Given the description of an element on the screen output the (x, y) to click on. 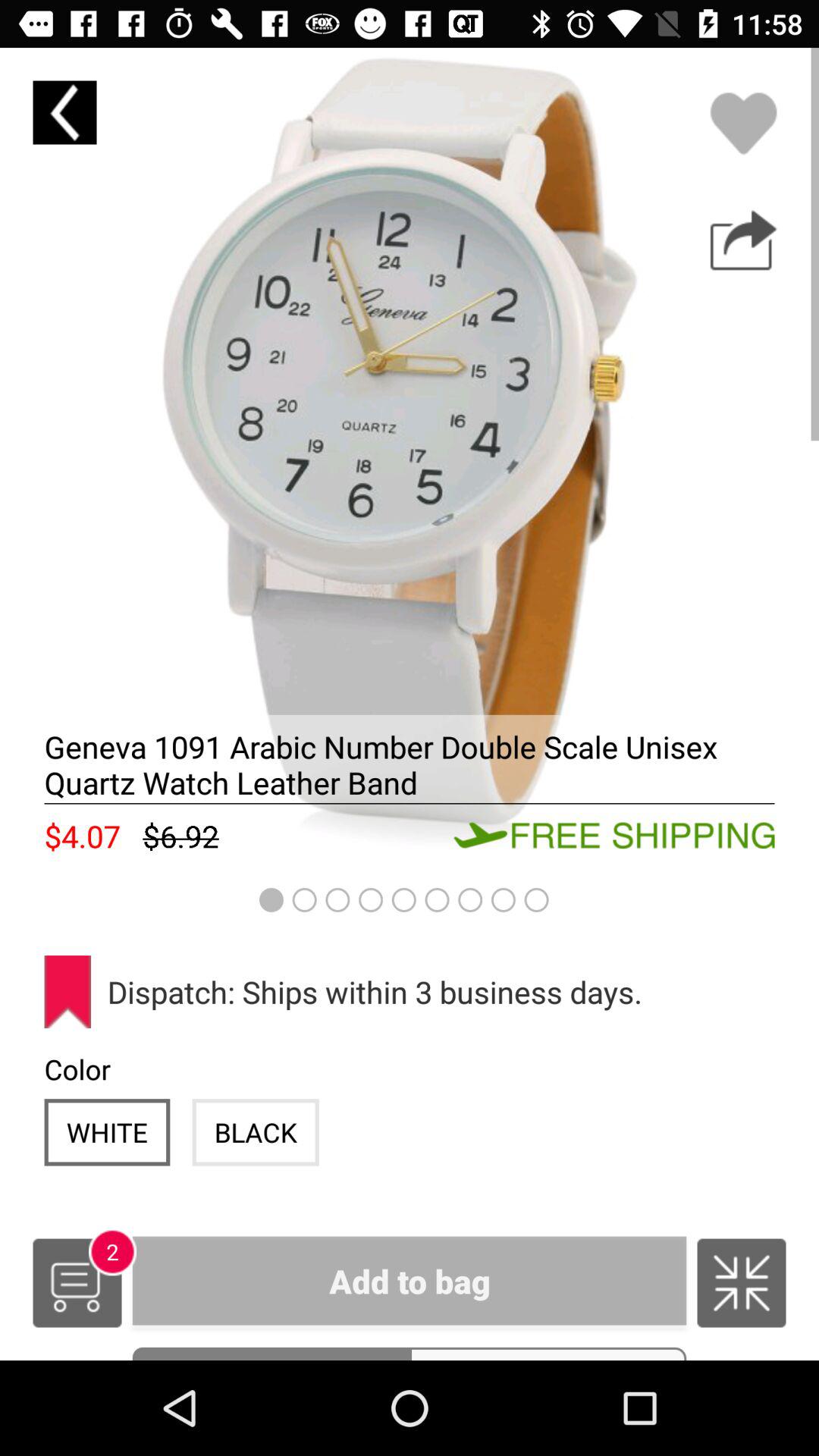
open the icon to the left of the black (107, 1131)
